Given the description of an element on the screen output the (x, y) to click on. 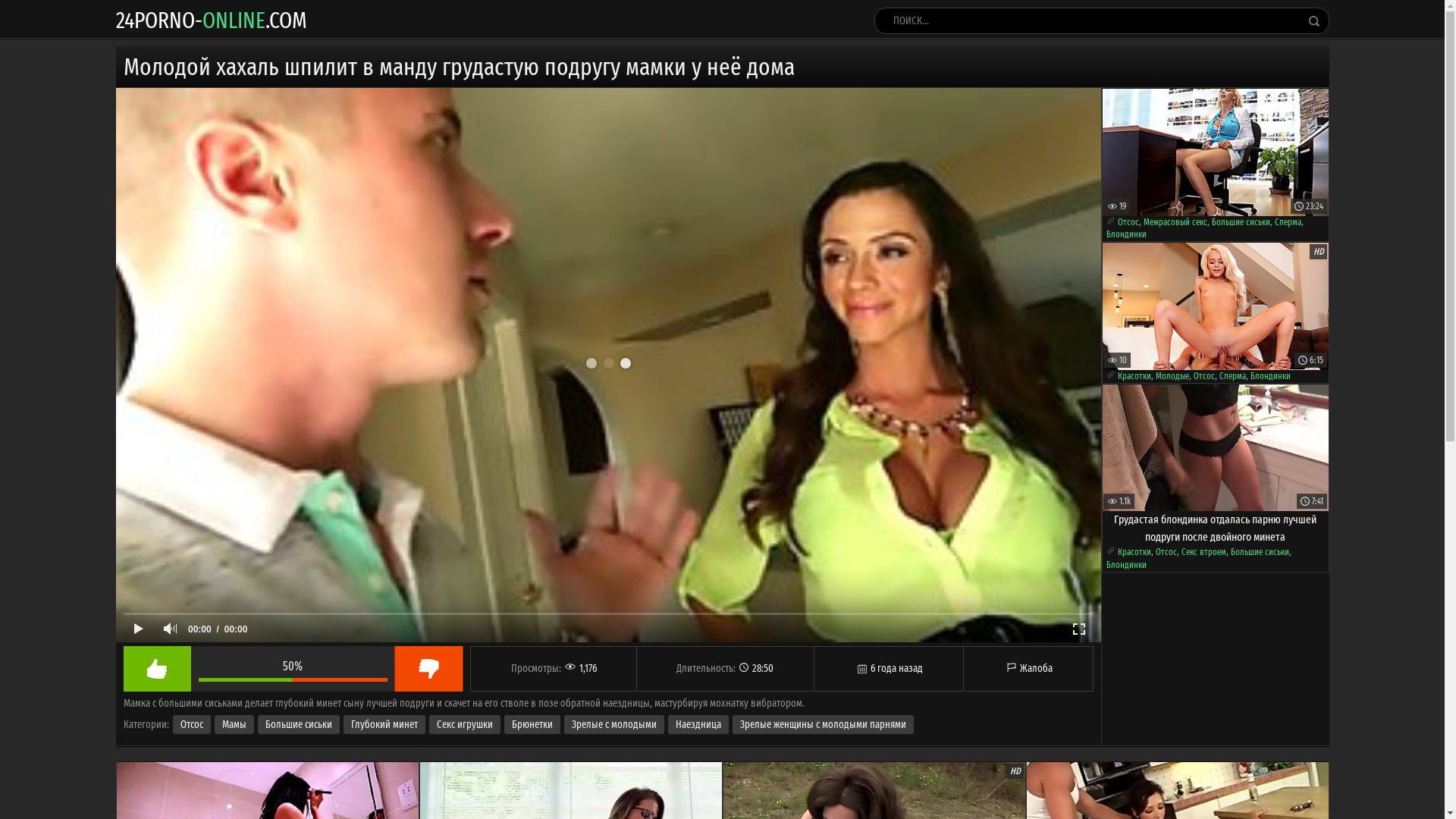
23:24
19 Element type: text (1215, 151)
7:41
1.1k Element type: text (1215, 447)
HD
6:15
10 Element type: text (1215, 305)
24PORNO-ONLINE.COM Element type: text (210, 20)
